Given the description of an element on the screen output the (x, y) to click on. 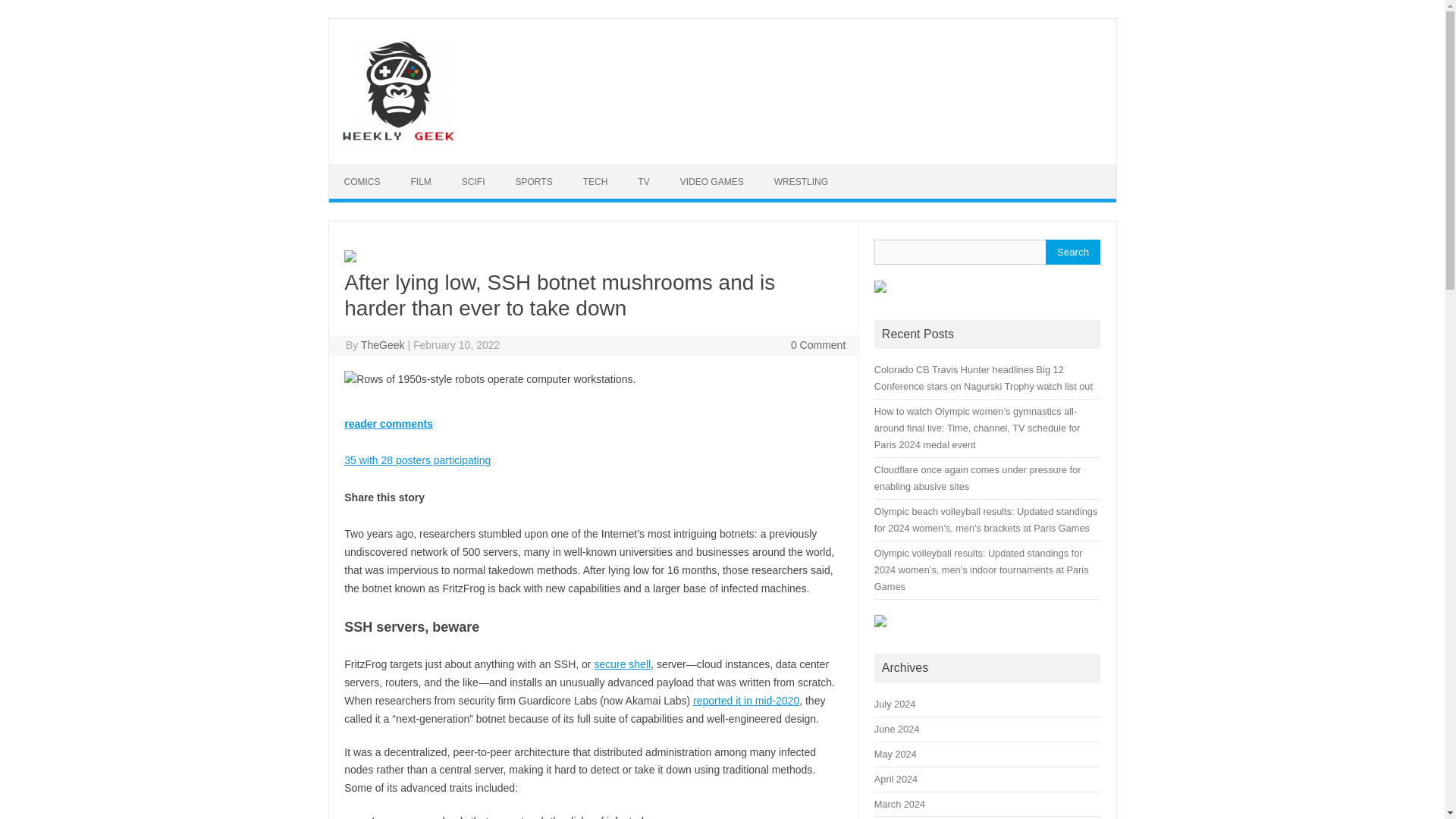
28 posters participating (416, 460)
Search (1072, 251)
COMICS (362, 182)
TheGeek (382, 345)
VIDEO GAMES (711, 182)
28 posters participating (592, 424)
Search (1072, 251)
0 Comment (817, 345)
WRESTLING (800, 182)
35 with 28 posters participating (416, 460)
secure shell (622, 664)
Posts by TheGeek (382, 345)
SCIFI (473, 182)
reported it in mid-2020 (746, 700)
